Given the description of an element on the screen output the (x, y) to click on. 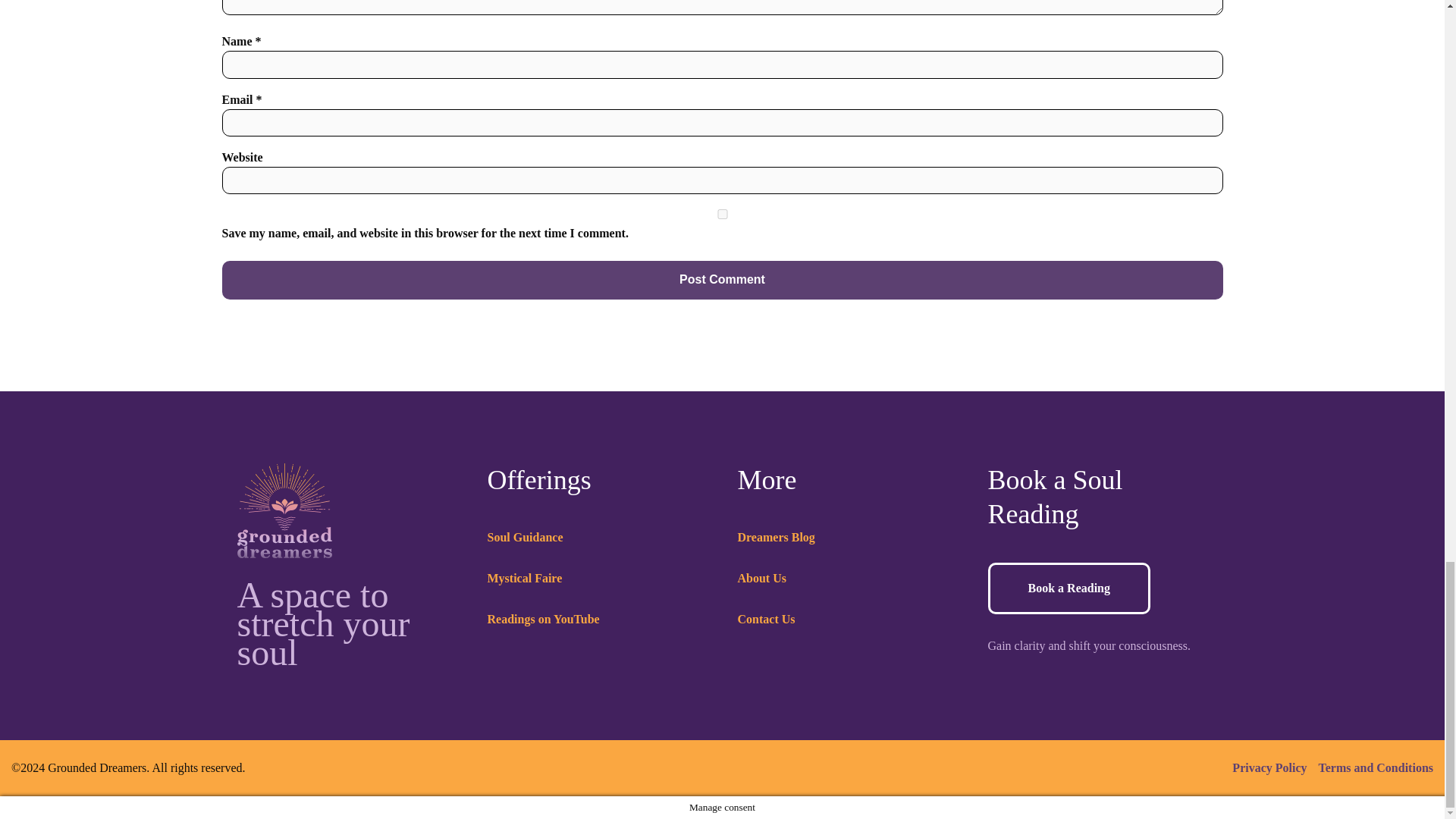
Book a Reading (1068, 588)
Contact Us (765, 619)
Post Comment (722, 279)
Terms and Conditions (1375, 768)
Readings on YouTube (542, 619)
Soul Guidance (524, 537)
Privacy Policy (1268, 768)
Post Comment (722, 279)
Dreamers Blog (774, 537)
